Given the description of an element on the screen output the (x, y) to click on. 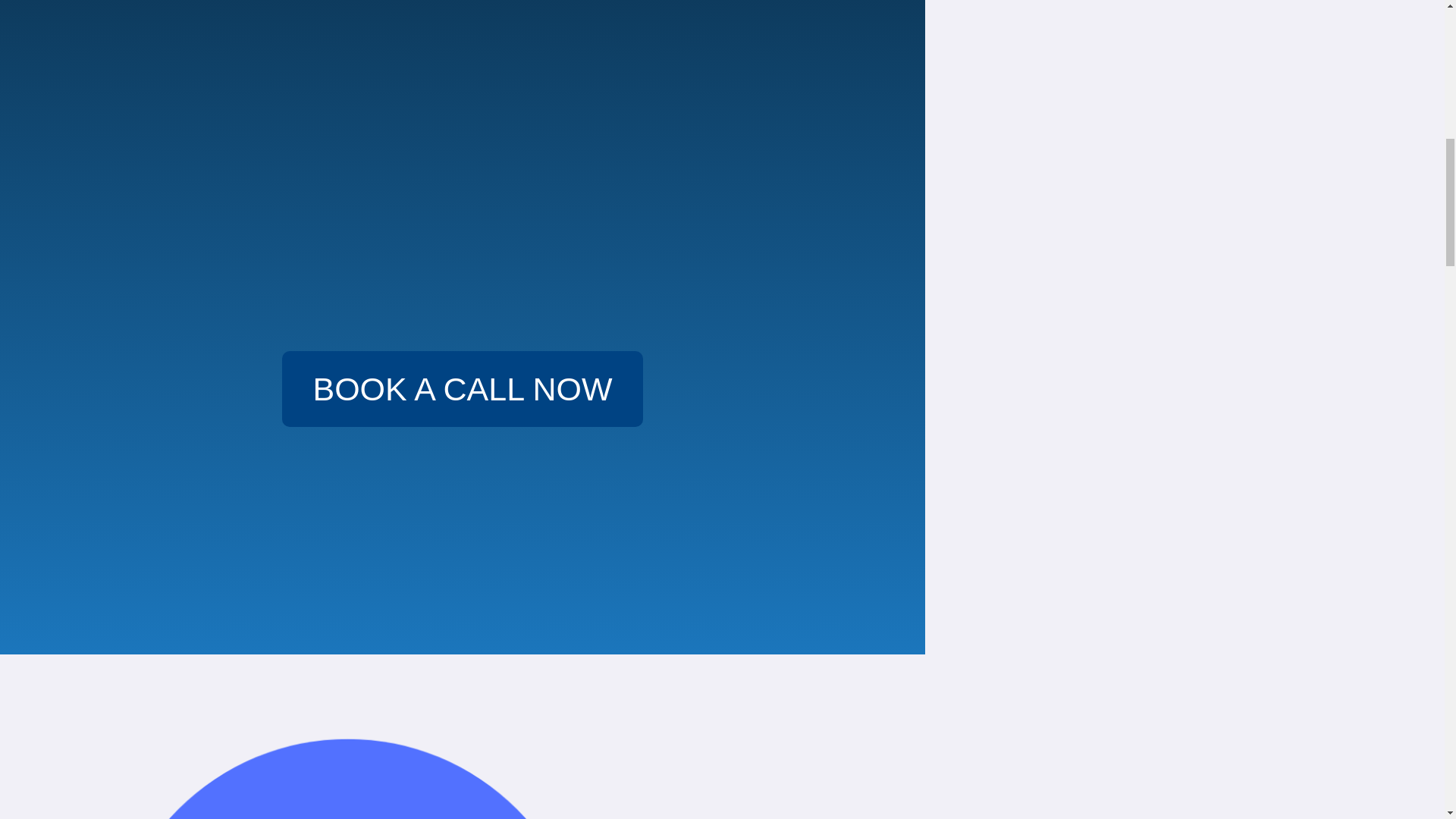
BOOK A CALL NOW (462, 388)
